Given the description of an element on the screen output the (x, y) to click on. 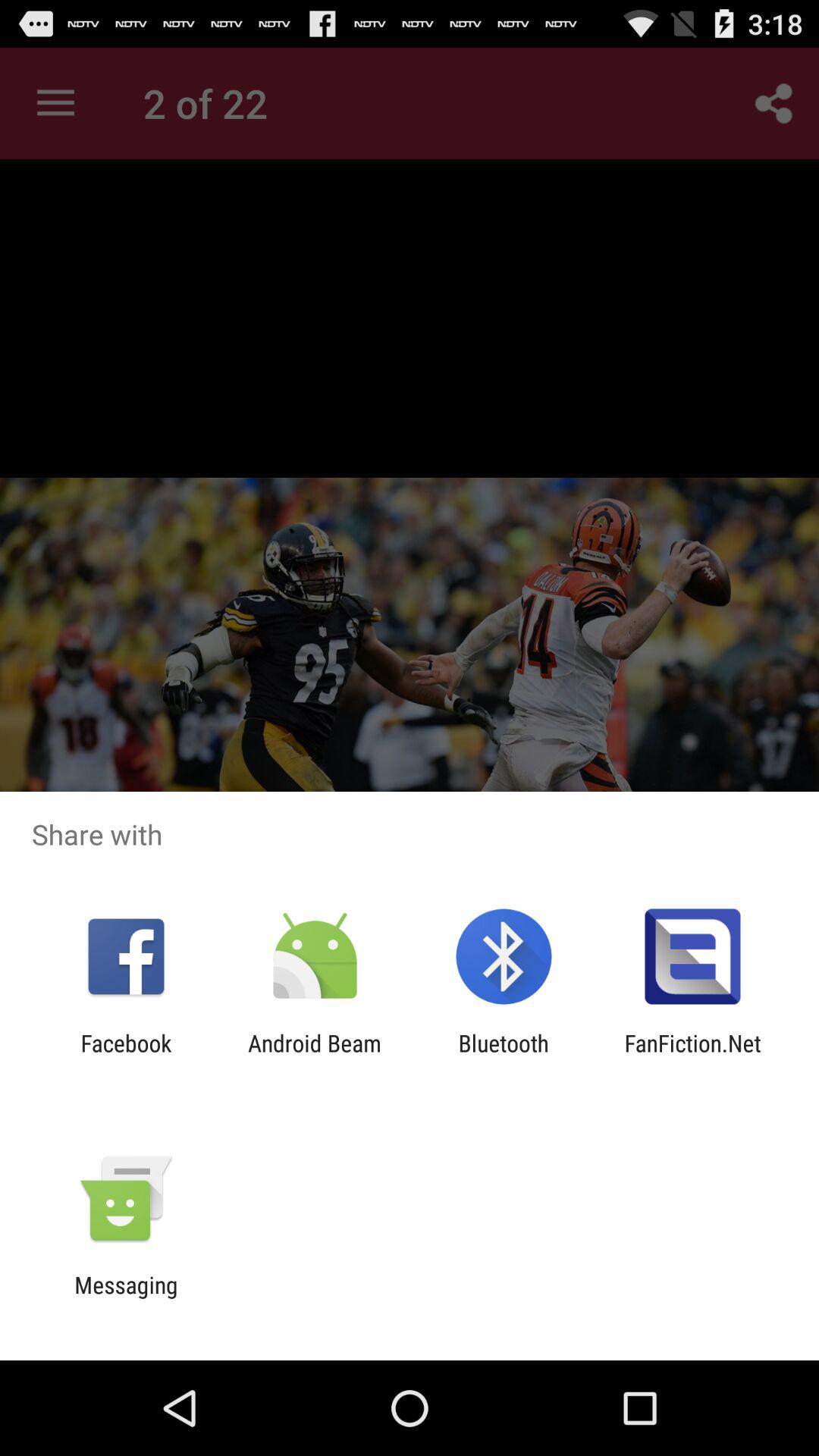
launch the icon to the right of the android beam app (503, 1056)
